Given the description of an element on the screen output the (x, y) to click on. 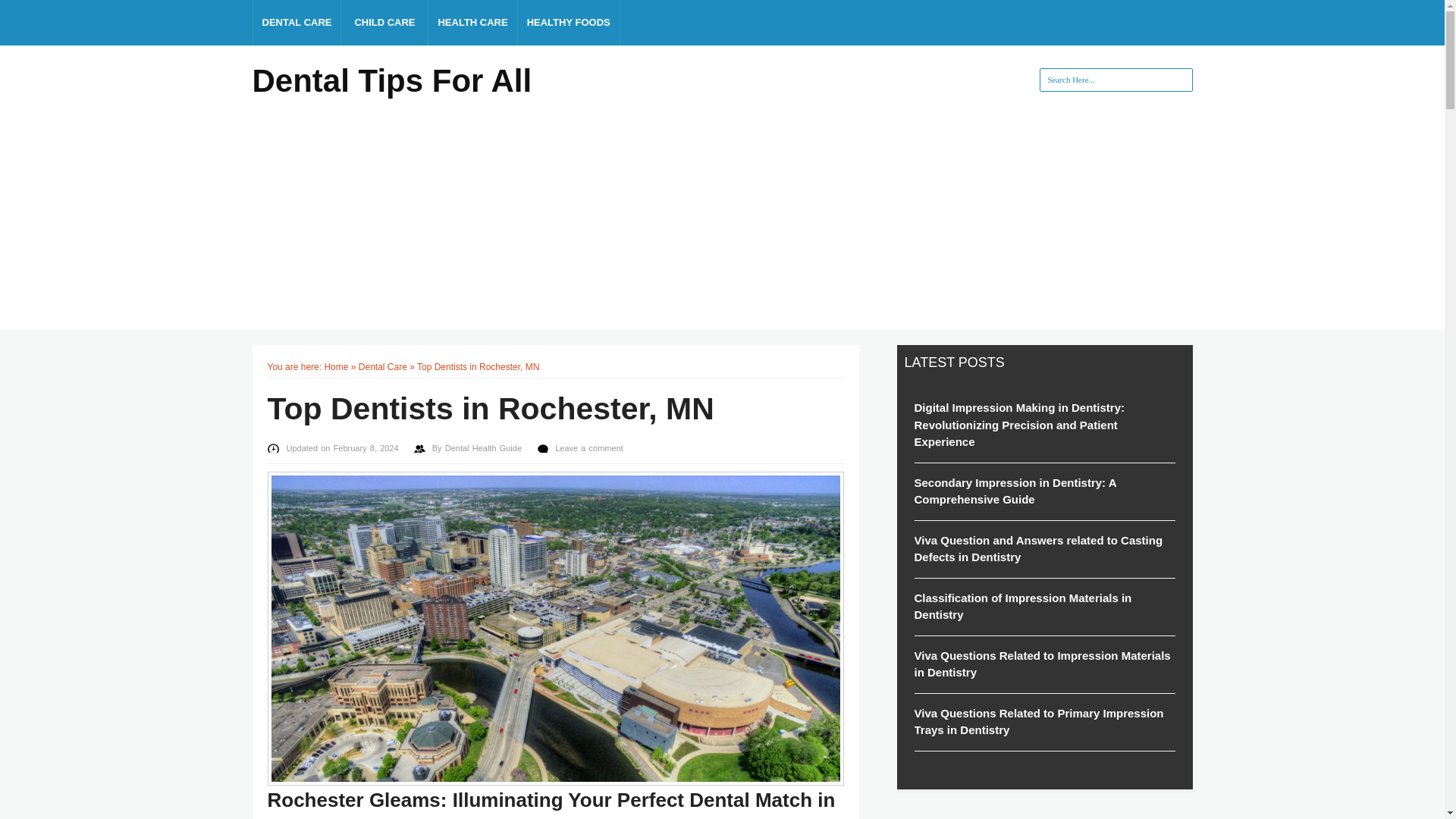
Mansar (391, 79)
Dental Tips For All (391, 79)
DENTAL CARE (297, 22)
HEALTH CARE (472, 22)
Viva Questions Related to Impression Materials in Dentistry (1044, 663)
Dental Care (382, 366)
Classification of Impression Materials in Dentistry (1044, 606)
Dental Health Guide (484, 447)
